Given the description of an element on the screen output the (x, y) to click on. 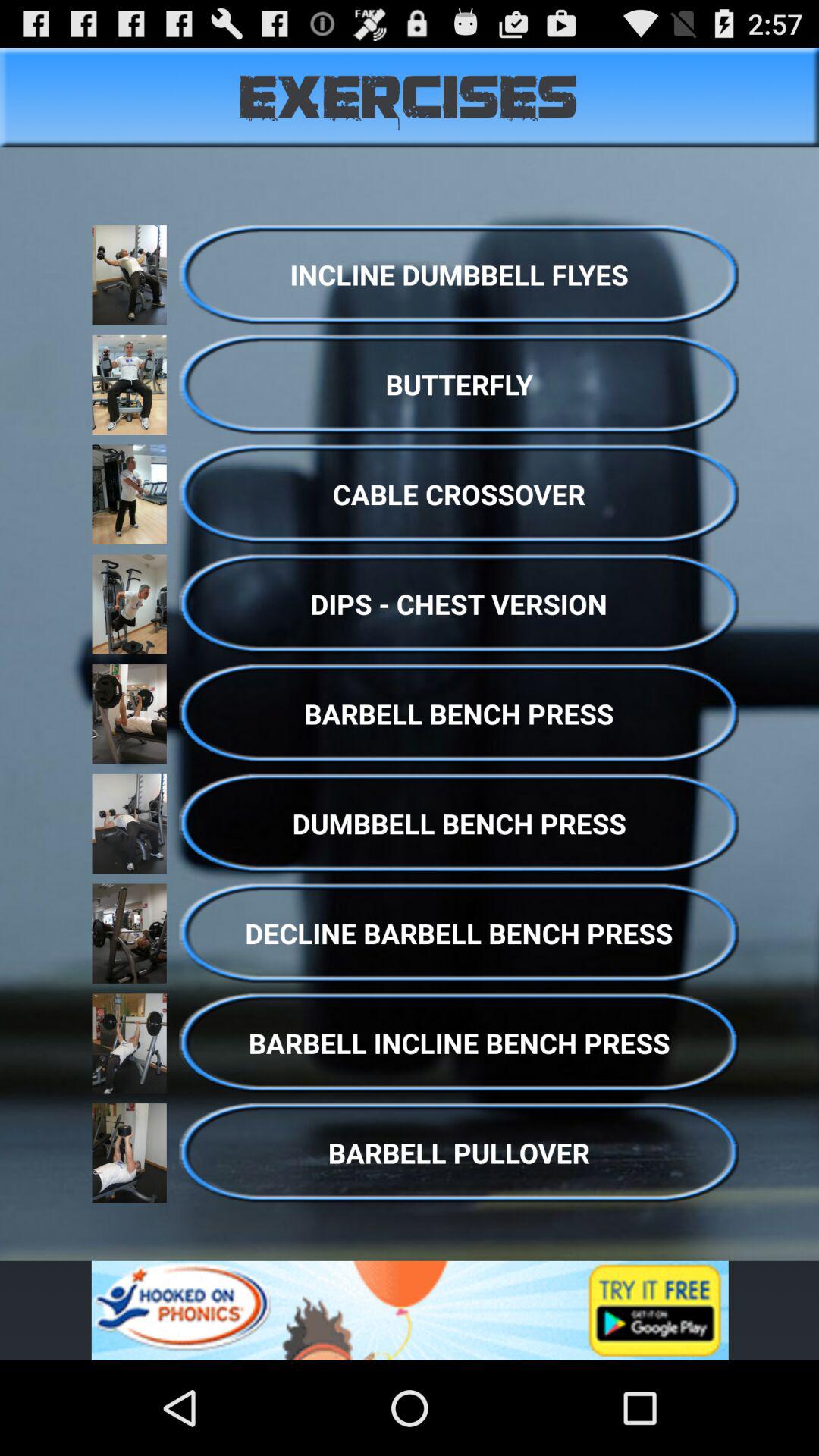
tap advertisement (409, 1310)
